Given the description of an element on the screen output the (x, y) to click on. 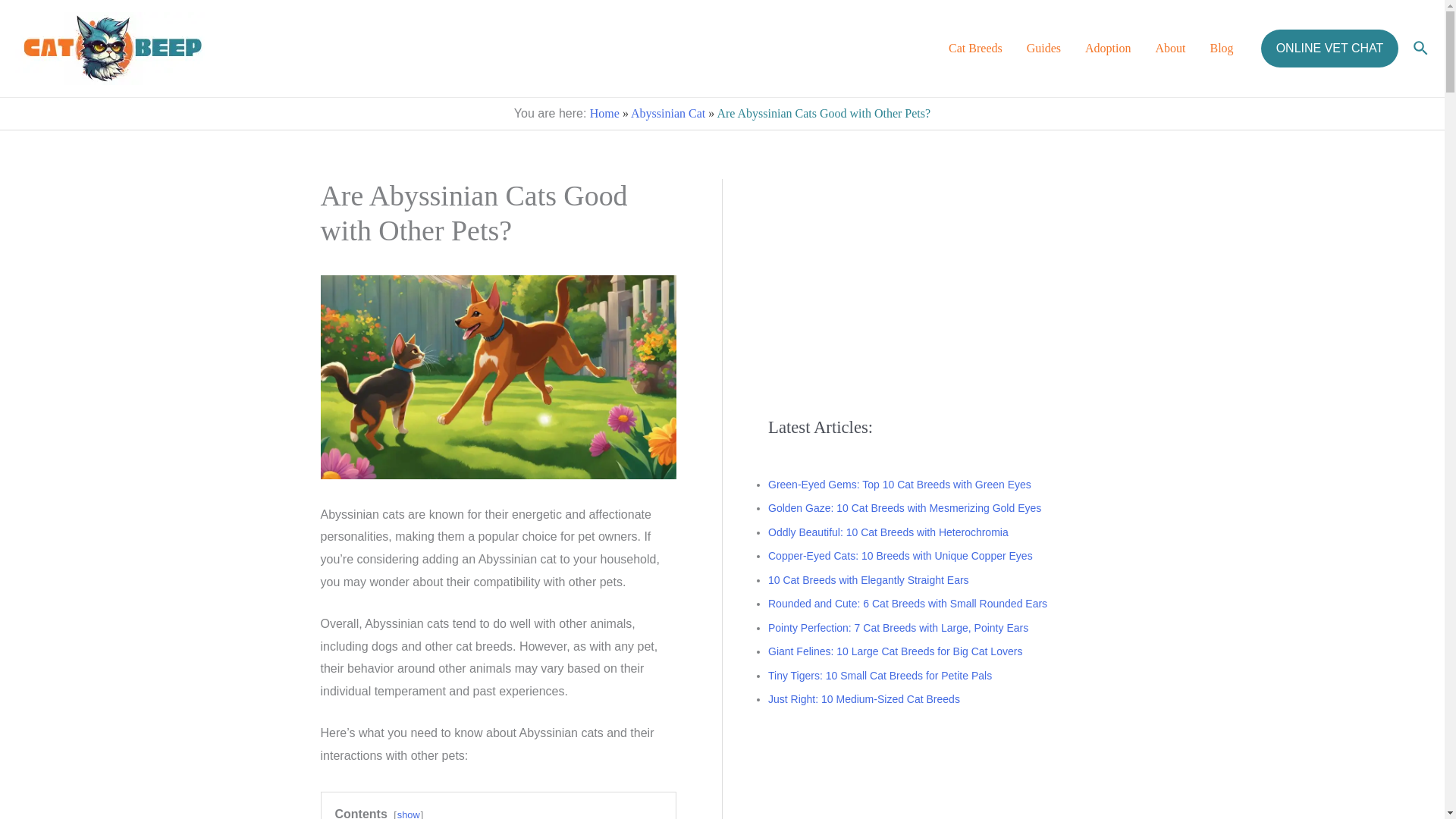
Guides (1043, 48)
Home (604, 113)
show (408, 814)
Adoption (1107, 48)
Abyssinian Cat (667, 113)
ONLINE VET CHAT (1329, 48)
Blog (1222, 48)
About (1170, 48)
Cat Breeds (975, 48)
